Given the description of an element on the screen output the (x, y) to click on. 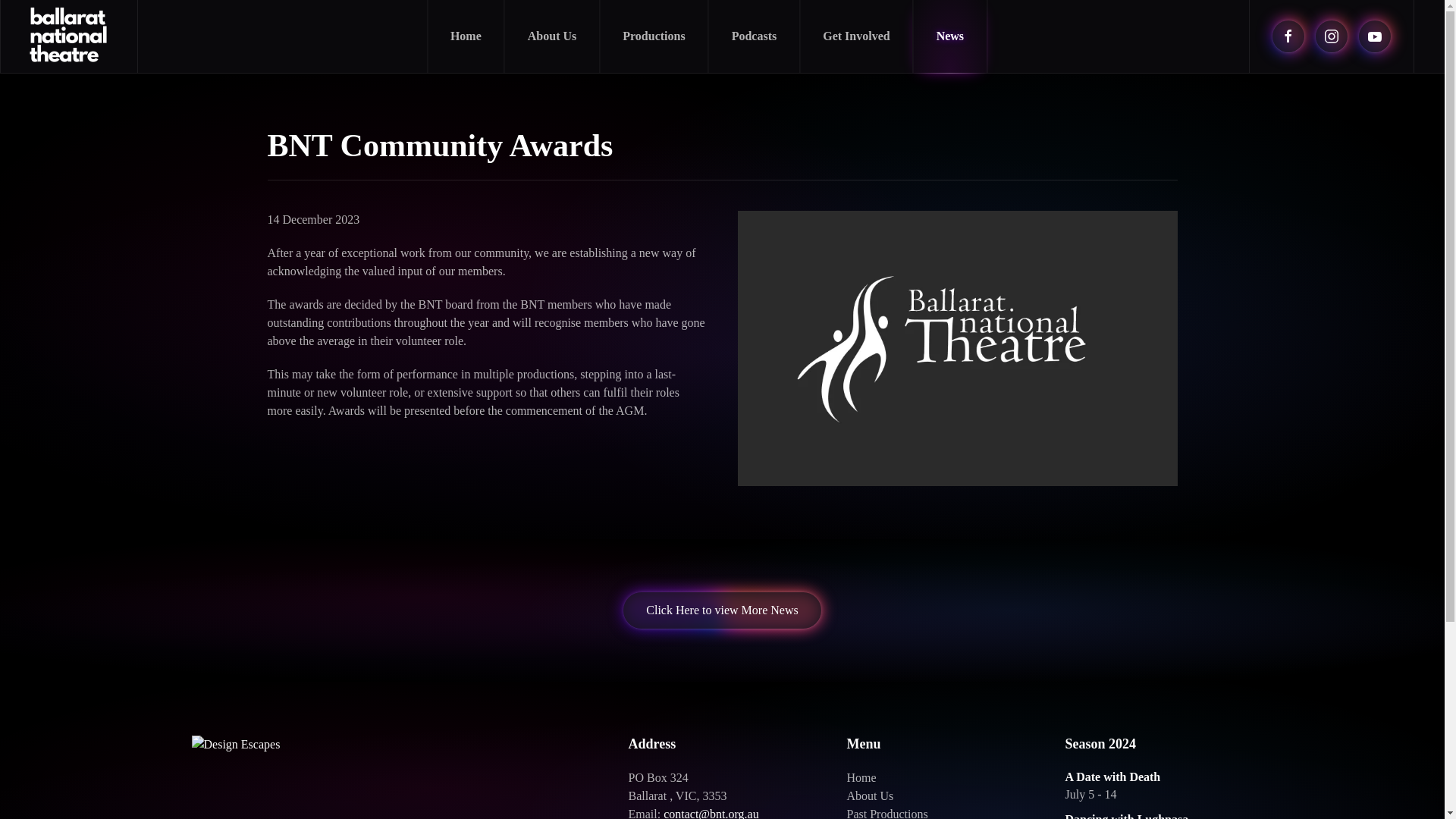
News (949, 36)
Address (721, 743)
Productions (652, 36)
Season 2024 (1158, 743)
About Us (550, 36)
Menu (939, 743)
Podcasts (753, 36)
Home (465, 36)
